Given the description of an element on the screen output the (x, y) to click on. 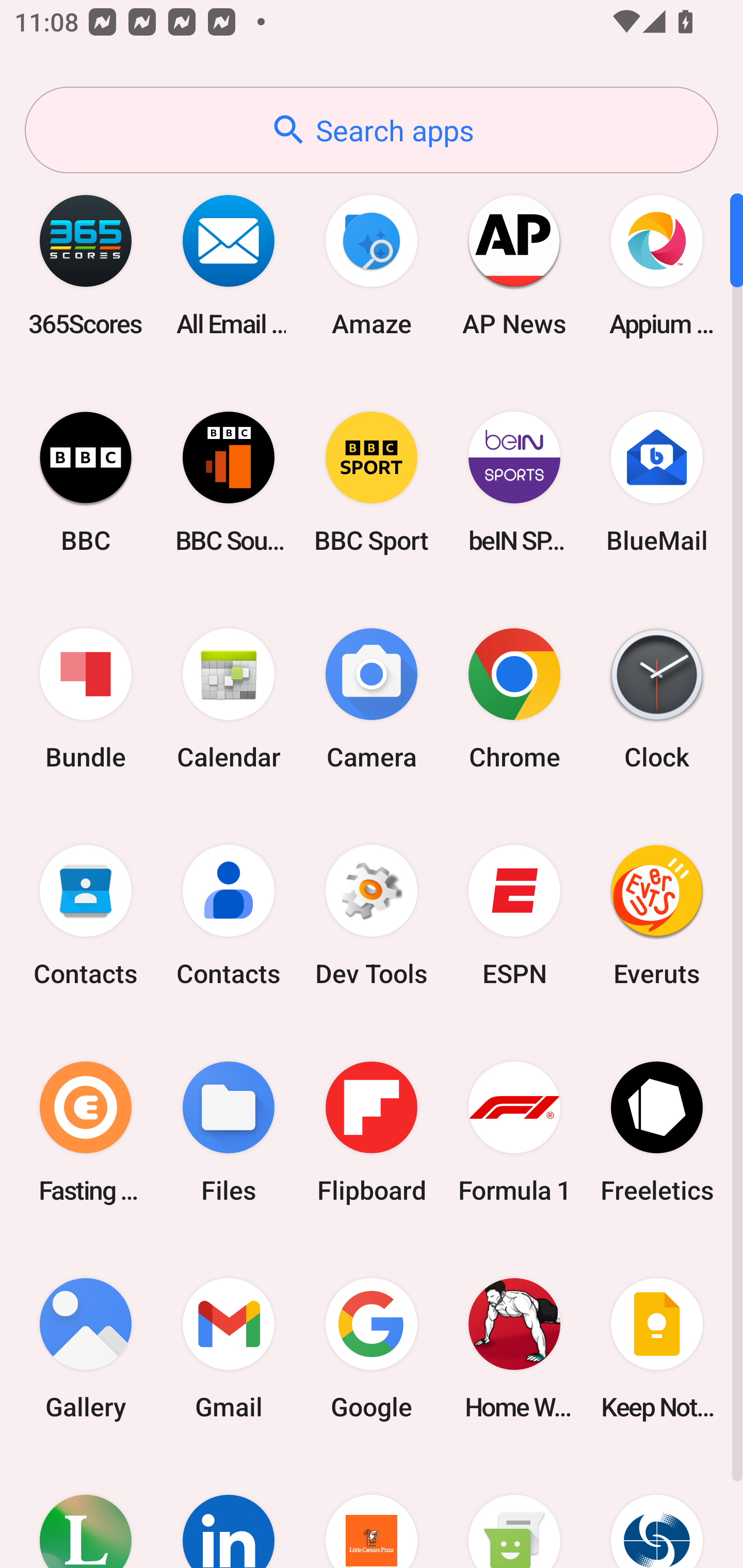
  Search apps (371, 130)
365Scores (85, 264)
All Email Connect (228, 264)
Amaze (371, 264)
AP News (514, 264)
Appium Settings (656, 264)
BBC (85, 482)
BBC Sounds (228, 482)
BBC Sport (371, 482)
beIN SPORTS (514, 482)
BlueMail (656, 482)
Bundle (85, 699)
Calendar (228, 699)
Camera (371, 699)
Chrome (514, 699)
Clock (656, 699)
Contacts (85, 915)
Contacts (228, 915)
Dev Tools (371, 915)
ESPN (514, 915)
Everuts (656, 915)
Fasting Coach (85, 1131)
Files (228, 1131)
Flipboard (371, 1131)
Formula 1 (514, 1131)
Freeletics (656, 1131)
Gallery (85, 1348)
Gmail (228, 1348)
Google (371, 1348)
Home Workout (514, 1348)
Keep Notes (656, 1348)
Lifesum (85, 1512)
LinkedIn (228, 1512)
Little Caesars Pizza (371, 1512)
Messaging (514, 1512)
MyObservatory (656, 1512)
